Given the description of an element on the screen output the (x, y) to click on. 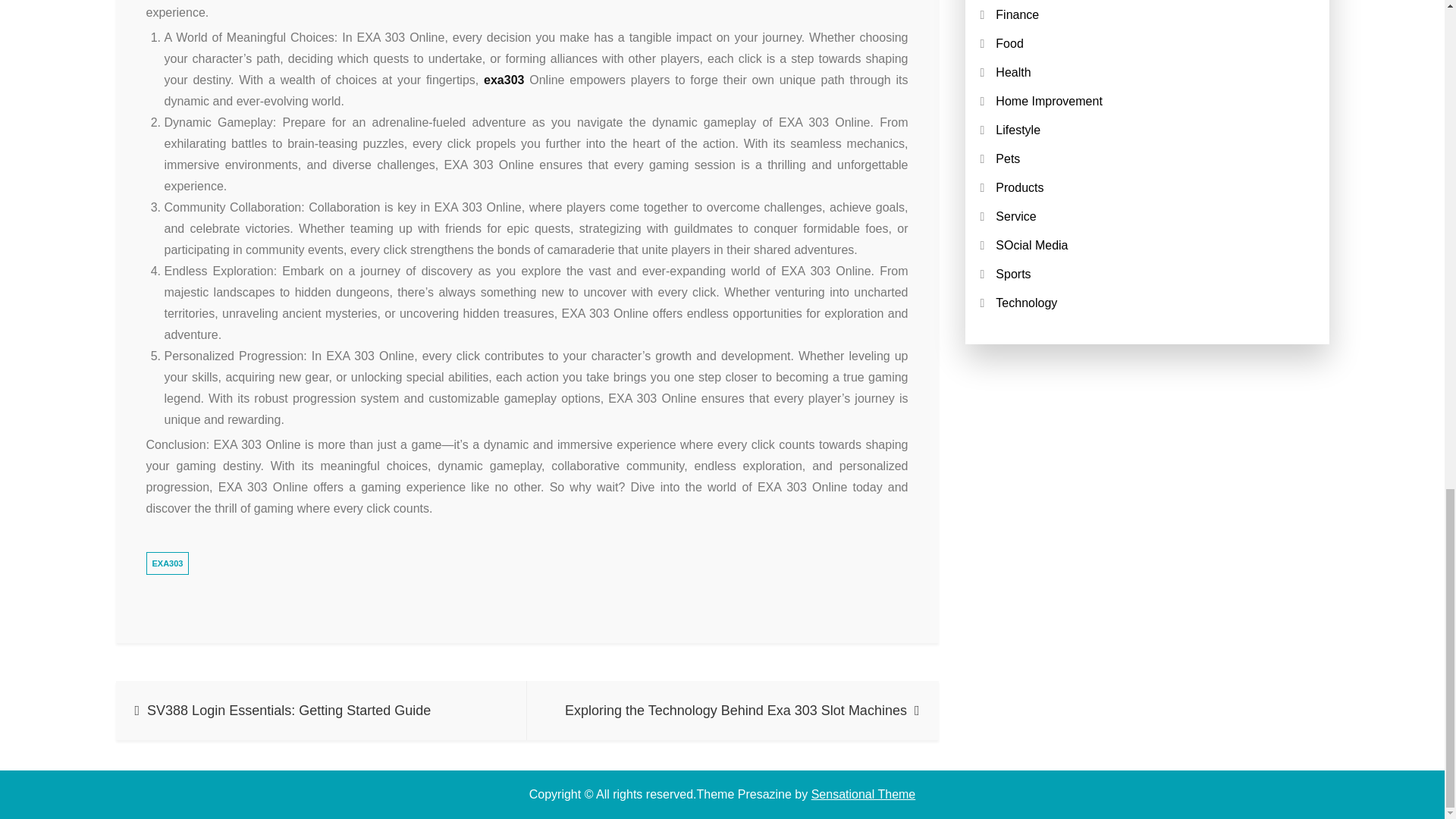
Food (1009, 42)
Pets (1007, 158)
Health (1012, 72)
Products (1019, 187)
exa303 (503, 79)
Service (1015, 215)
Technology (1026, 302)
Sensational Theme (862, 793)
SOcial Media (1031, 245)
Finance (1017, 14)
